Given the description of an element on the screen output the (x, y) to click on. 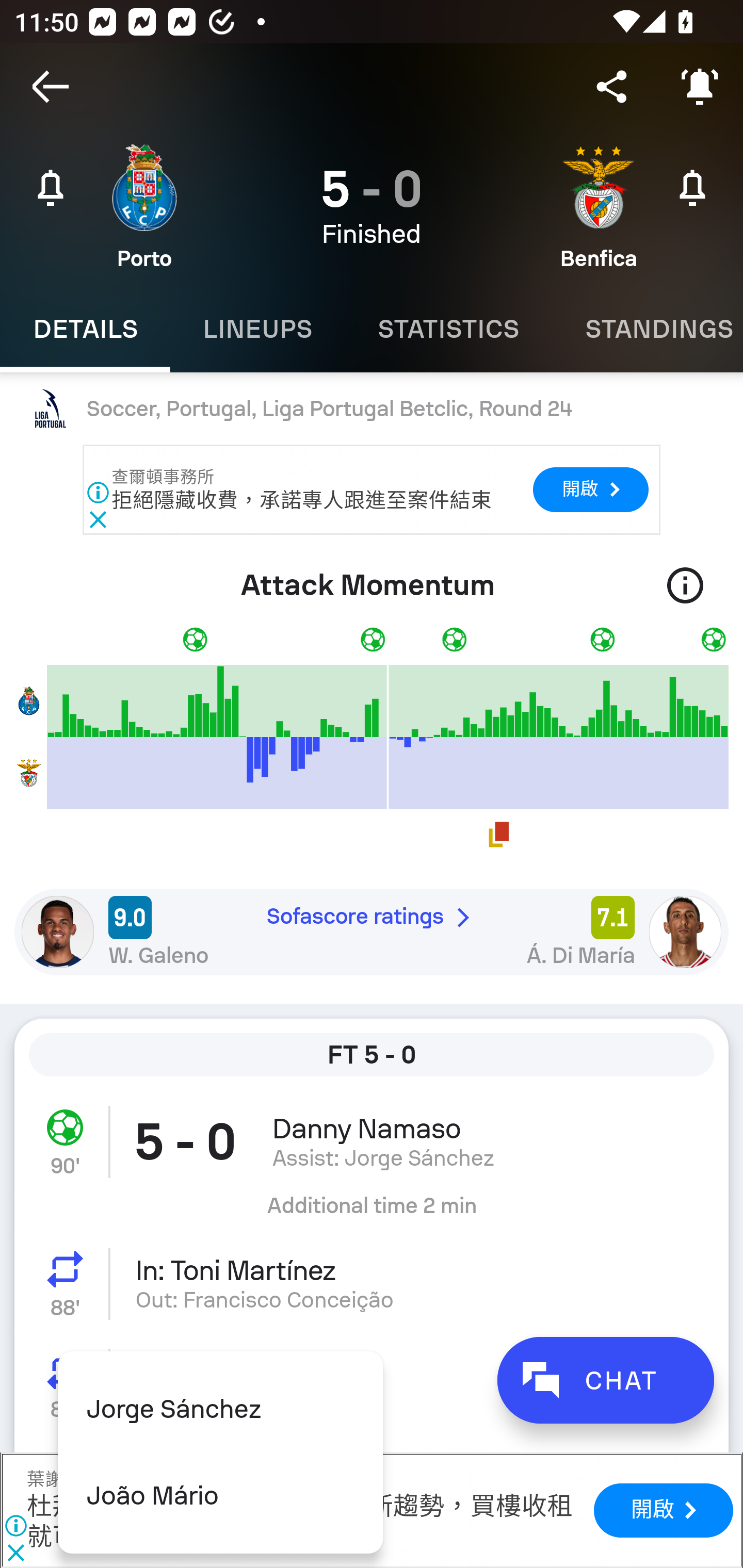
Jorge Sánchez (219, 1408)
João Mário (219, 1495)
